Given the description of an element on the screen output the (x, y) to click on. 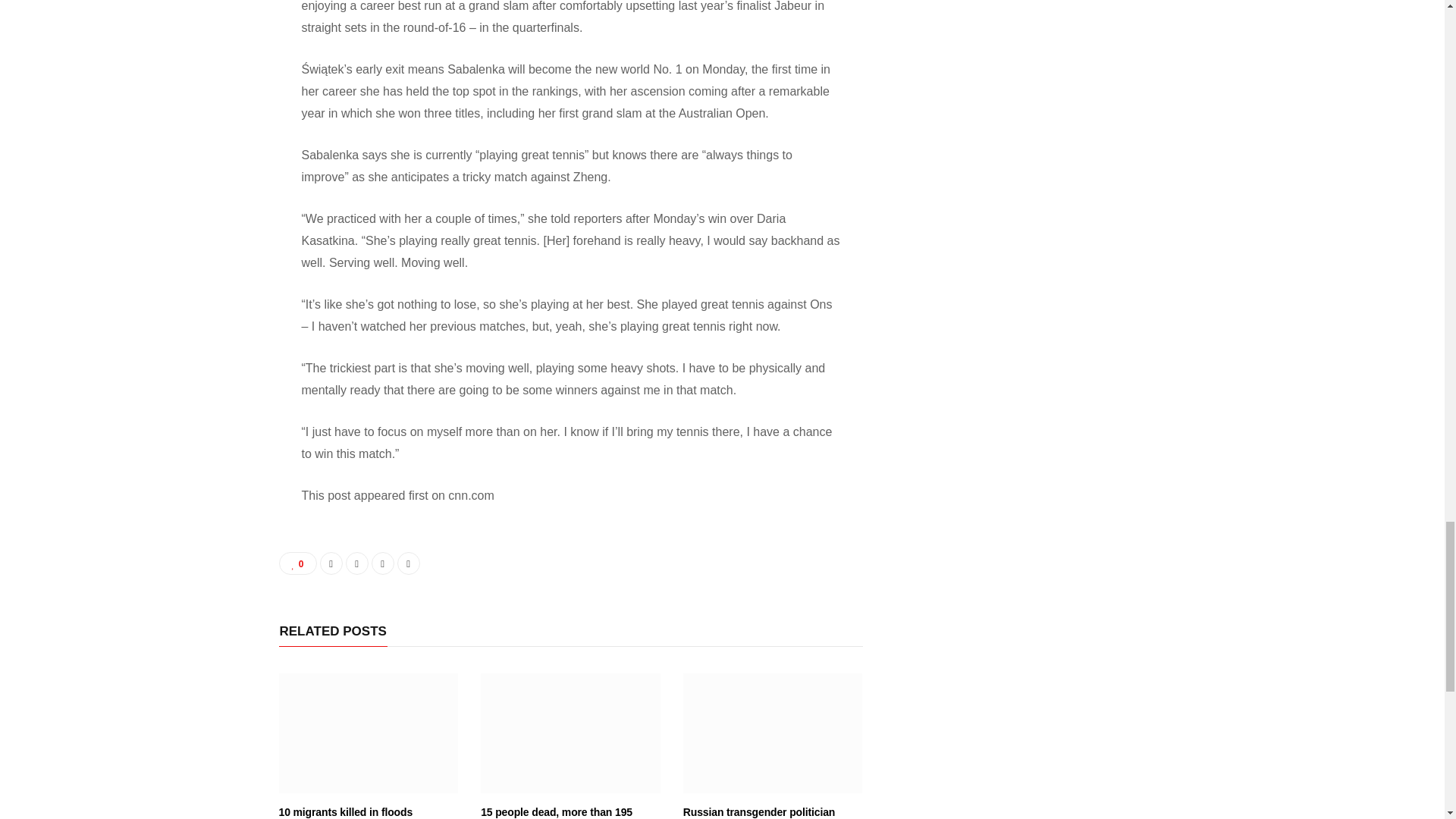
0 (298, 563)
